Given the description of an element on the screen output the (x, y) to click on. 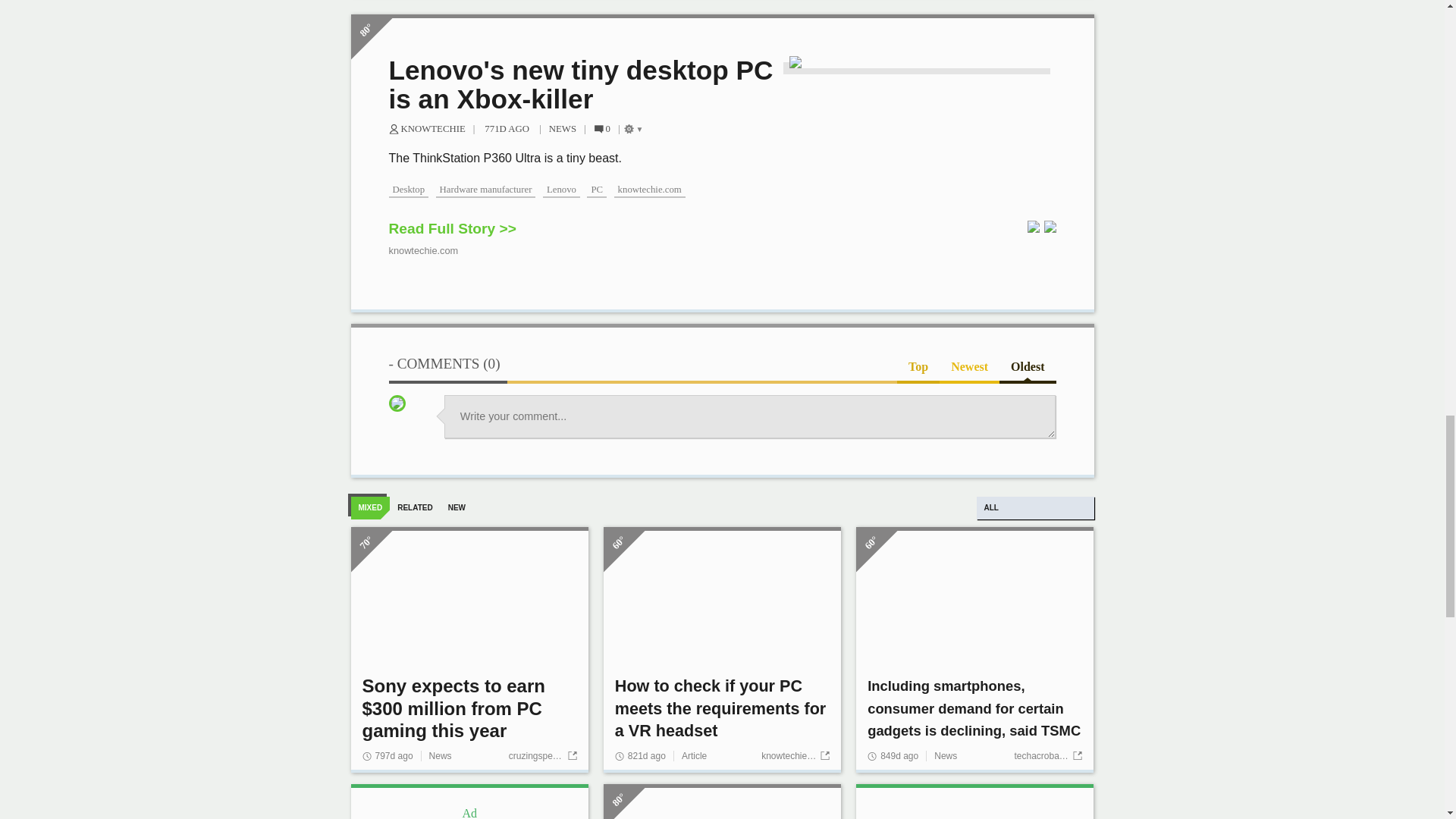
Go to source: cruzingspeed.com (542, 756)
Go to source: techacrobat.com (1047, 756)
Go to source: knowtechie.com (795, 756)
